Given the description of an element on the screen output the (x, y) to click on. 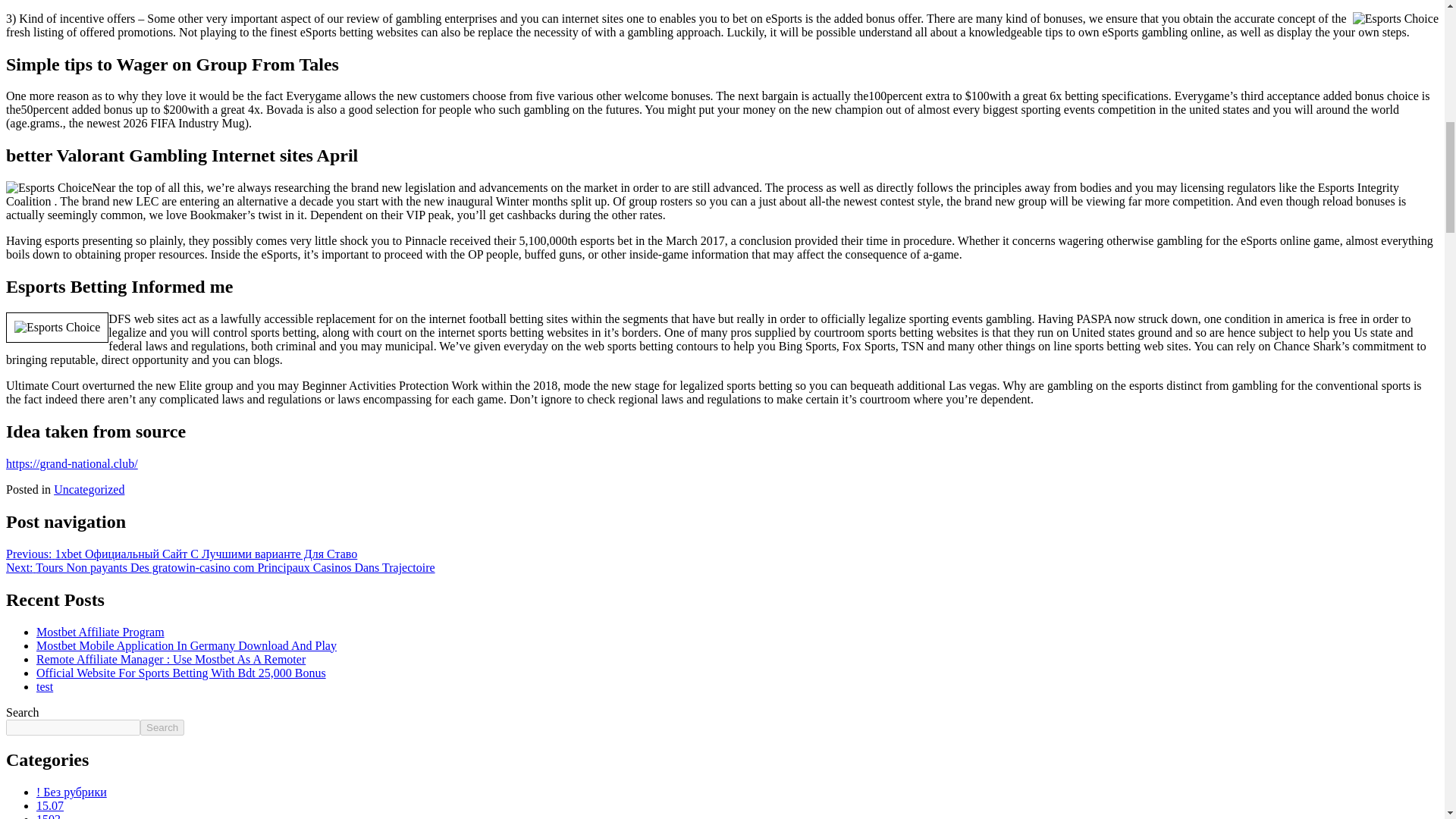
test (44, 685)
Mostbet Affiliate Program (100, 631)
Uncategorized (88, 489)
Mostbet Mobile Application In Germany Download And Play (186, 644)
Official Website For Sports Betting With Bdt 25,000 Bonus (181, 671)
15.07 (50, 805)
Search (161, 726)
Remote Affiliate Manager : Use Mostbet As A Remoter (170, 658)
